Given the description of an element on the screen output the (x, y) to click on. 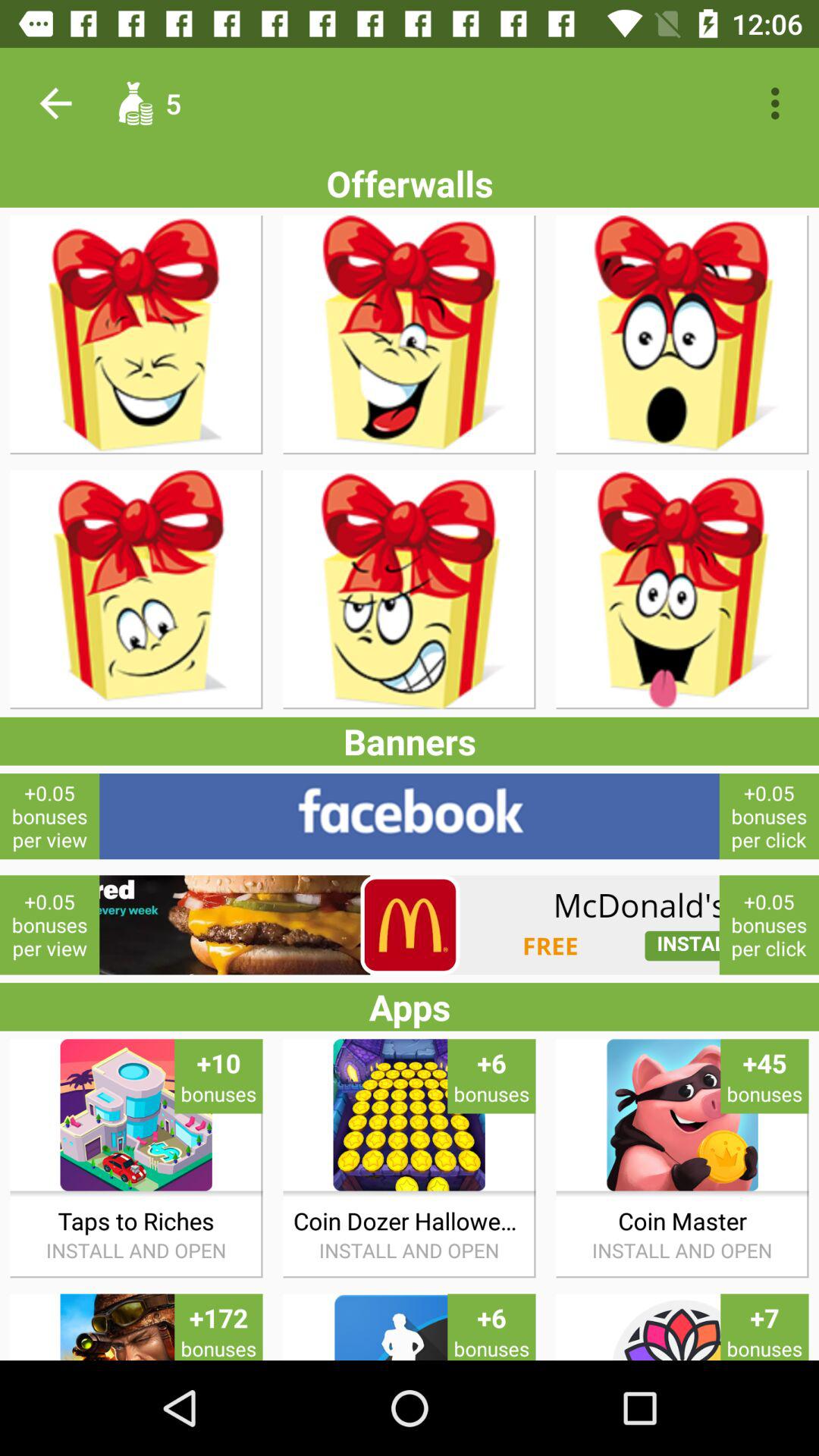
click the item above the offerwalls (55, 103)
